Given the description of an element on the screen output the (x, y) to click on. 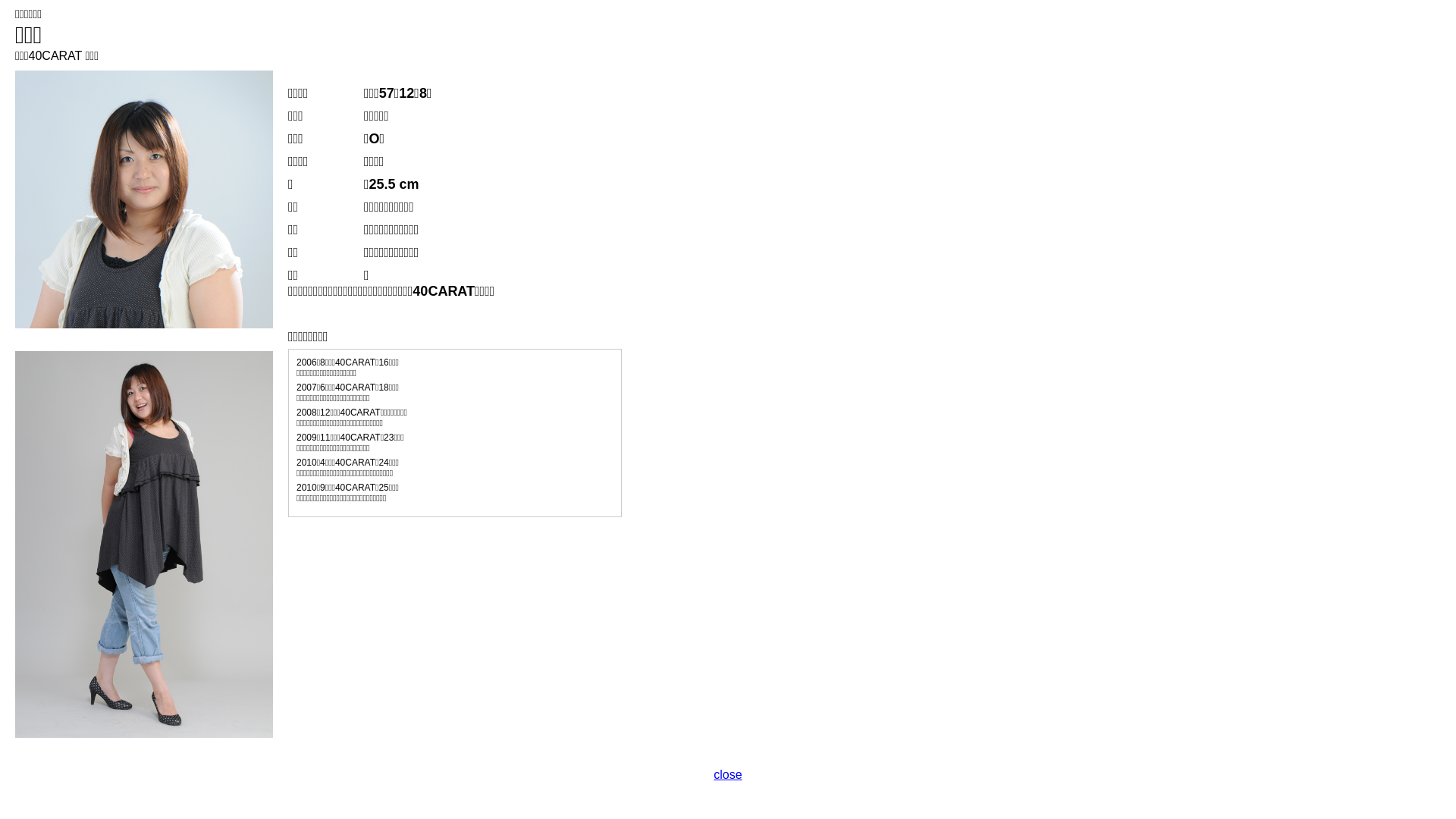
close Element type: text (727, 774)
